Given the description of an element on the screen output the (x, y) to click on. 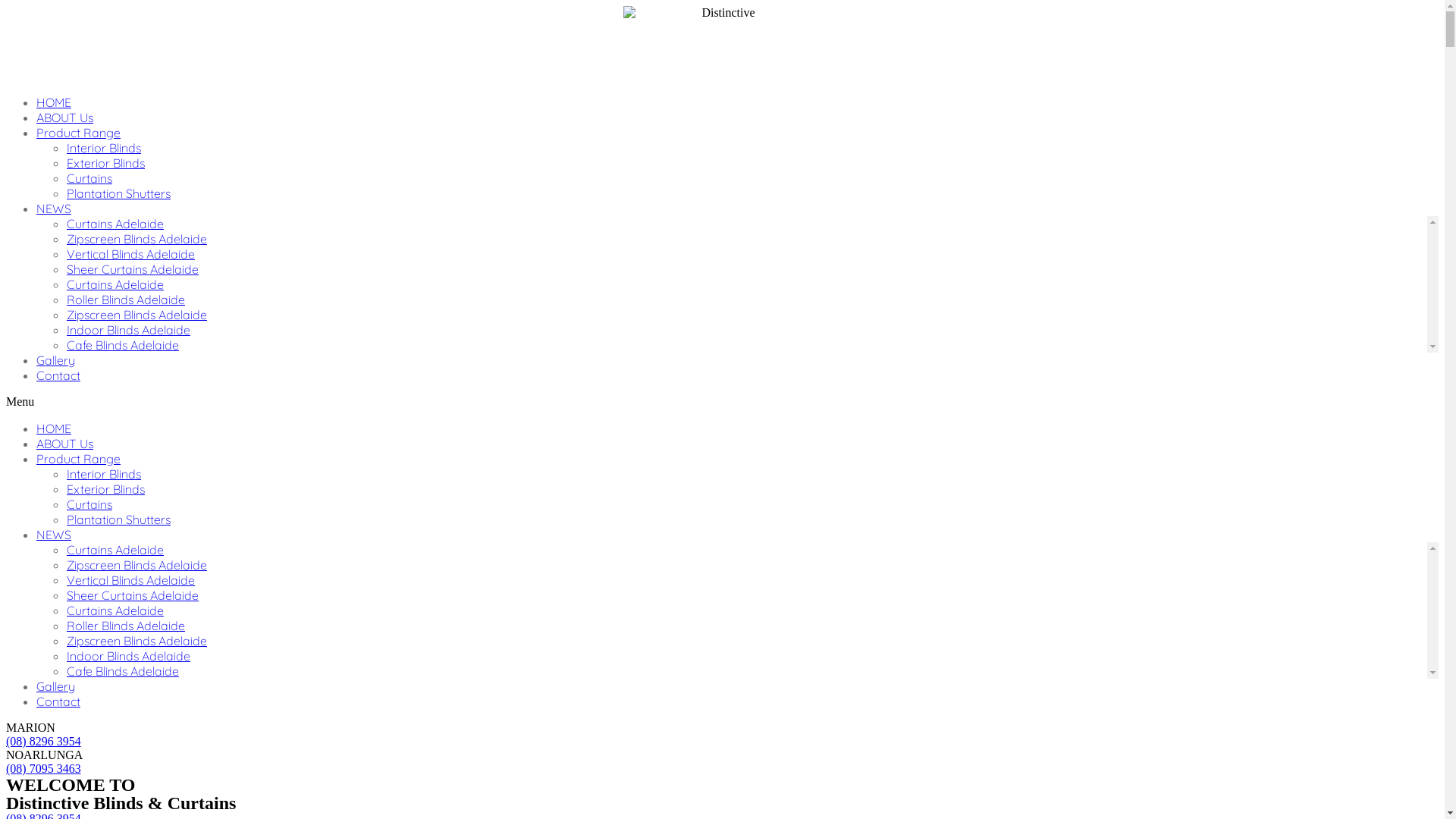
Zipscreen Blinds Adelaide Element type: text (136, 314)
Roller Blinds Adelaide Element type: text (125, 299)
Indoor Blinds Adelaide Element type: text (128, 329)
Plantation Shutters Element type: text (118, 192)
Interior Blinds Element type: text (103, 147)
Exterior Blinds Element type: text (105, 488)
ABOUT Us Element type: text (64, 443)
Gallery Element type: text (55, 359)
Plantation Shutters Element type: text (118, 519)
Zipscreen Blinds Adelaide Element type: text (136, 564)
Curtains Element type: text (89, 177)
(08) 8296 3954 Element type: text (43, 740)
Curtains Adelaide Element type: text (114, 283)
Sheer Curtains Adelaide Element type: text (132, 594)
Cafe Blinds Adelaide Element type: text (122, 344)
Zipscreen Blinds Adelaide Element type: text (136, 238)
Curtains Adelaide Element type: text (114, 549)
Indoor Blinds Adelaide Element type: text (128, 655)
NEWS Element type: text (53, 534)
Roller Blinds Adelaide Element type: text (125, 625)
Sheer Curtains Adelaide Element type: text (132, 268)
Vertical Blinds Adelaide Element type: text (130, 579)
Curtains Element type: text (89, 503)
Product Range Element type: text (78, 458)
NEWS Element type: text (53, 208)
HOME Element type: text (53, 428)
Curtains Adelaide Element type: text (114, 610)
Zipscreen Blinds Adelaide Element type: text (136, 640)
Exterior Blinds Element type: text (105, 162)
Interior Blinds Element type: text (103, 473)
ABOUT Us Element type: text (64, 117)
Contact Element type: text (58, 374)
Vertical Blinds Adelaide Element type: text (130, 253)
(08) 7095 3463 Element type: text (43, 768)
Cafe Blinds Adelaide Element type: text (122, 670)
HOME Element type: text (53, 101)
Curtains Adelaide Element type: text (114, 223)
Contact Element type: text (58, 701)
Gallery Element type: text (55, 685)
Product Range Element type: text (78, 132)
